Given the description of an element on the screen output the (x, y) to click on. 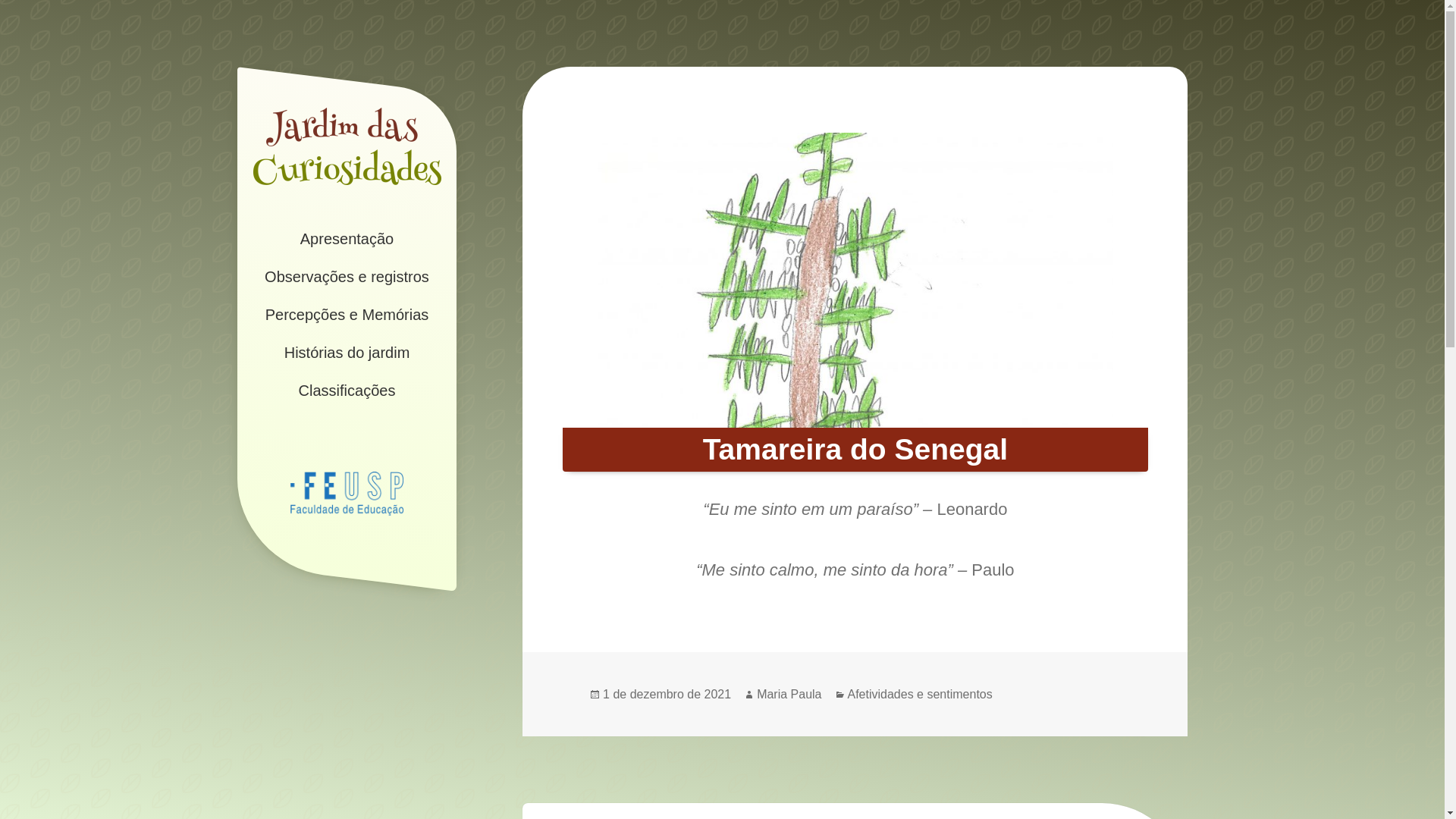
Afetividades e sentimentos Element type: text (919, 694)
Maria Paula Element type: text (788, 694)
1 de dezembro de 2021 Element type: text (666, 694)
Jardim das Curiosidades Element type: text (346, 220)
